Given the description of an element on the screen output the (x, y) to click on. 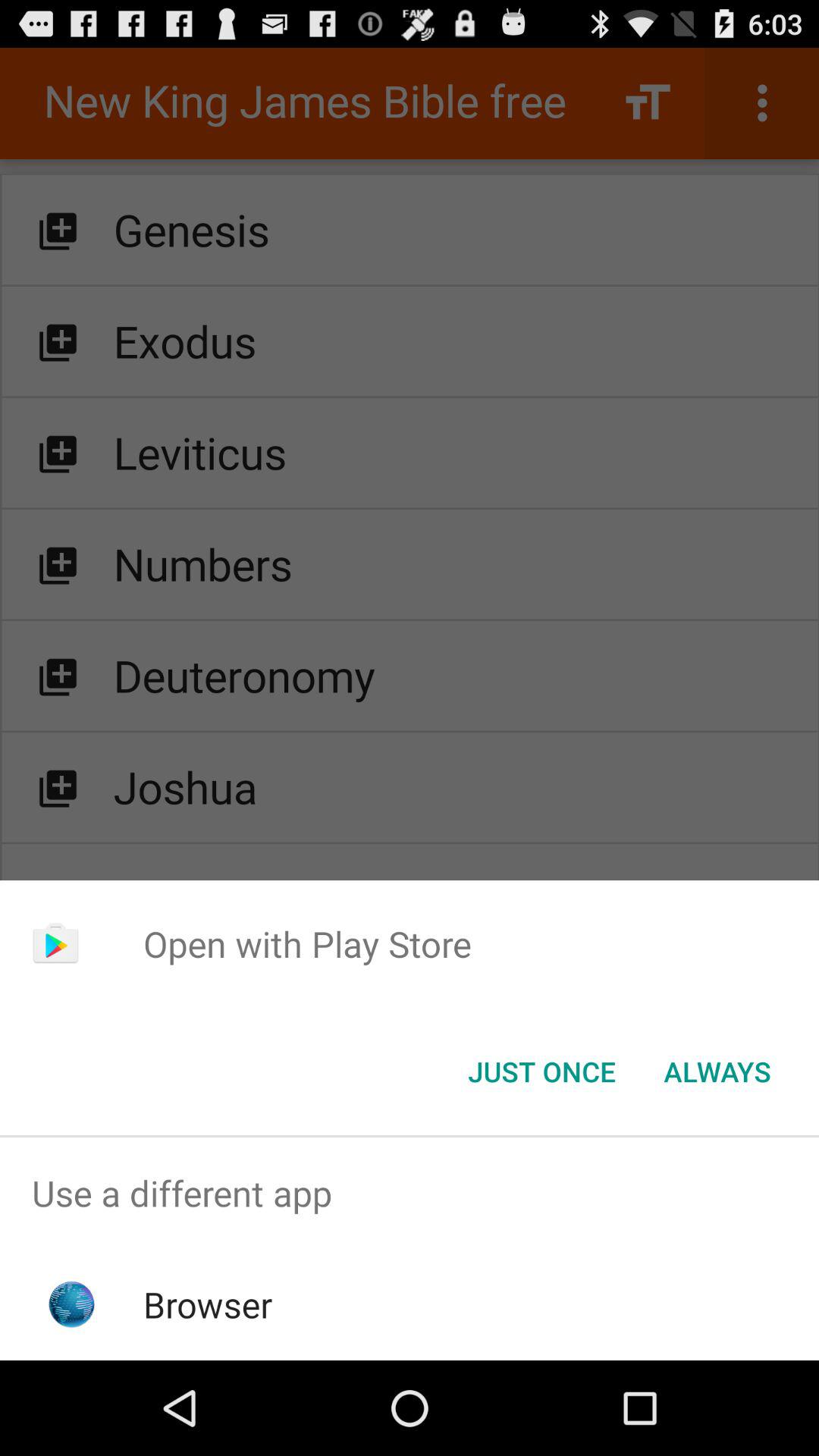
tap browser app (207, 1304)
